Given the description of an element on the screen output the (x, y) to click on. 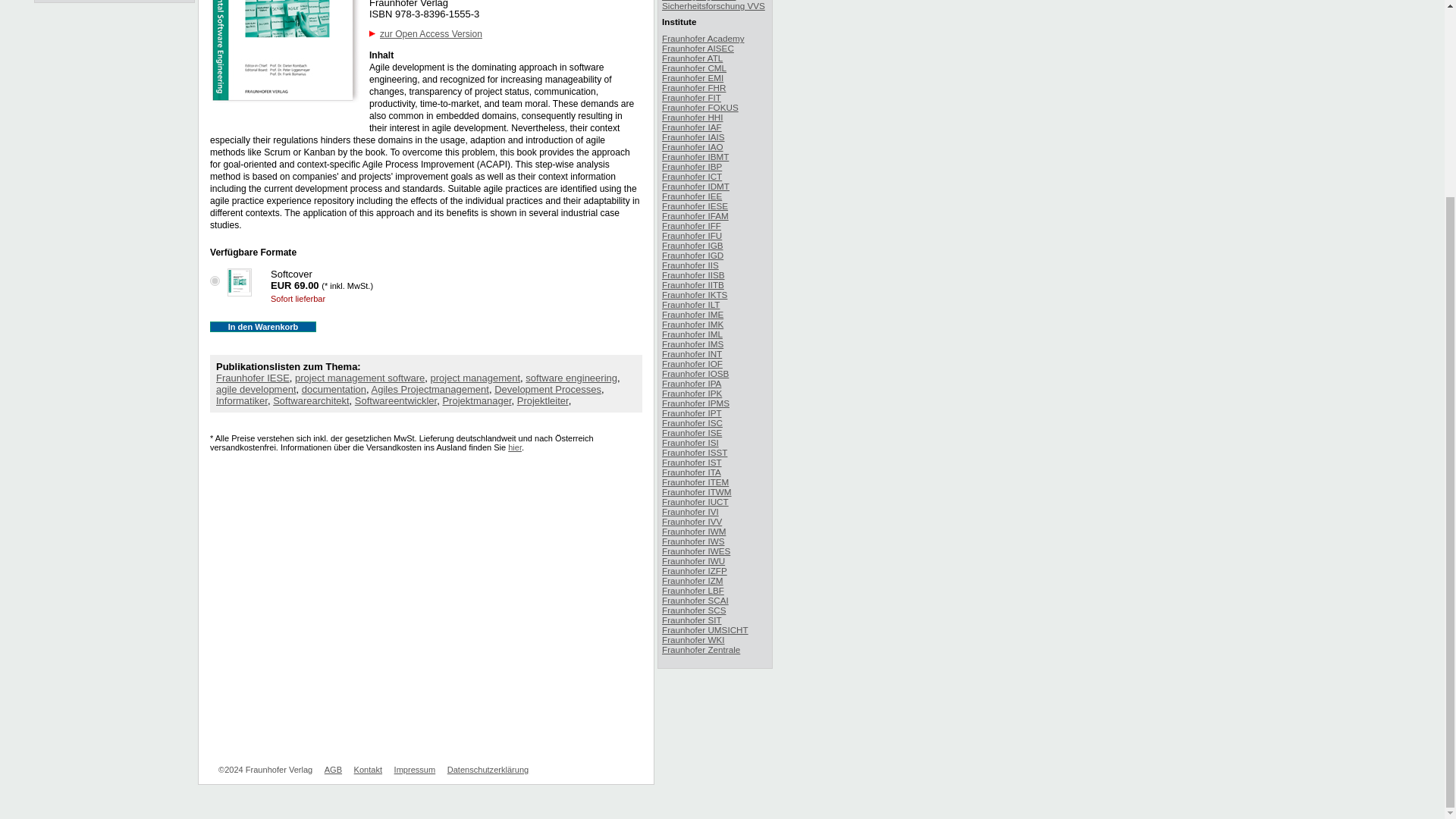
In den Warenkorb (262, 326)
Informatiker (241, 400)
project management software (360, 378)
agile development (256, 389)
Fraunhofer AISEC (697, 48)
Softwareentwickler (395, 400)
Fraunhofer Academy (703, 38)
project management (475, 378)
Fraunhofer ATL (692, 58)
documentation (333, 389)
hier (514, 447)
Development Processes (548, 389)
In den Warenkorb (262, 326)
